Given the description of an element on the screen output the (x, y) to click on. 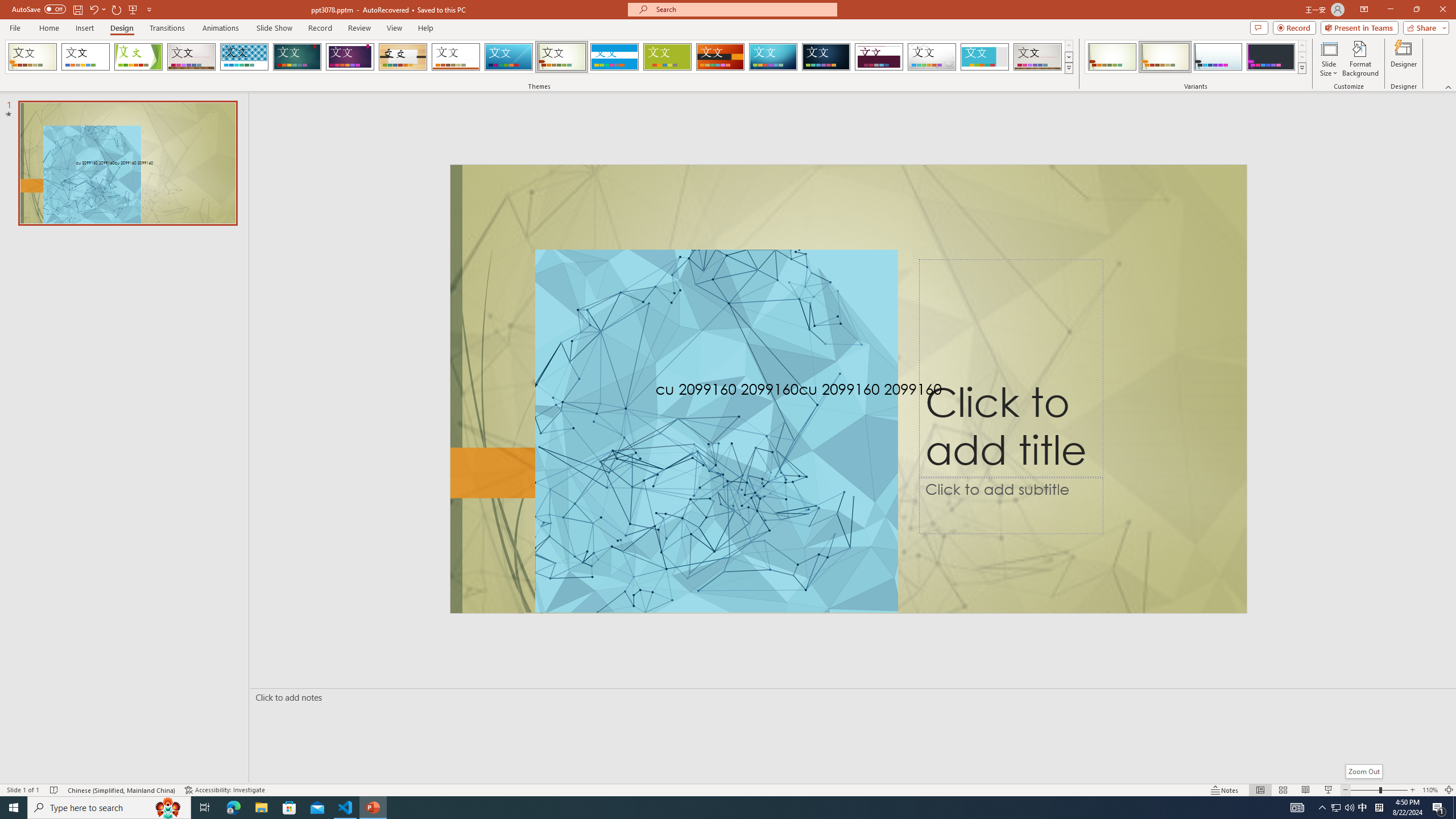
Variants (1301, 67)
Wisp Variant 3 (1217, 56)
Berlin Loading Preview... (720, 56)
Integral Loading Preview... (244, 56)
Slide Size (1328, 58)
Office Theme (85, 56)
Basis Loading Preview... (667, 56)
Dividend Loading Preview... (879, 56)
Circuit Loading Preview... (772, 56)
